Given the description of an element on the screen output the (x, y) to click on. 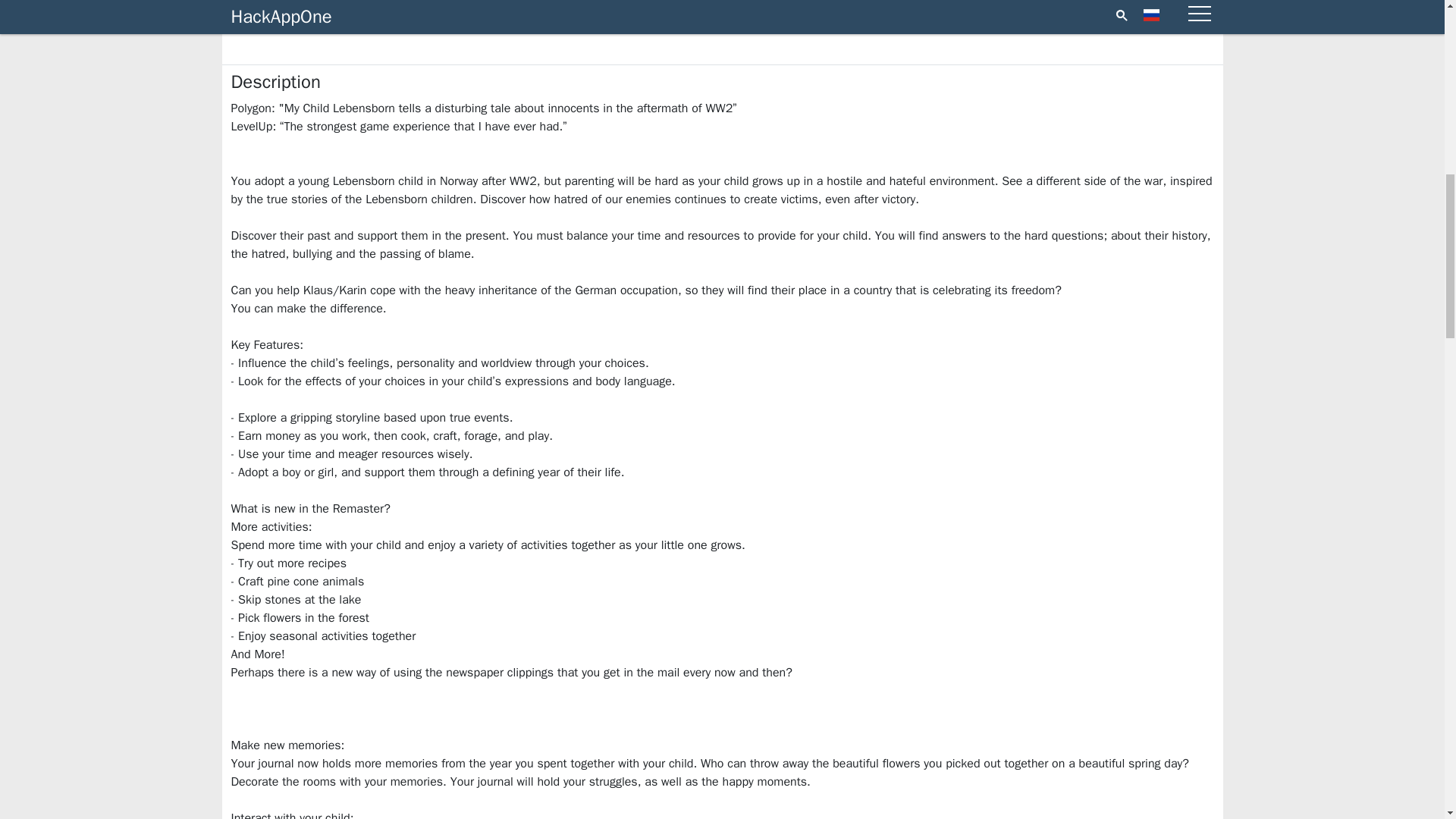
Download My Child Lebensborn (934, 13)
The game My Child Lebensborn (721, 13)
 My Child Lebensborn (509, 13)
